Given the description of an element on the screen output the (x, y) to click on. 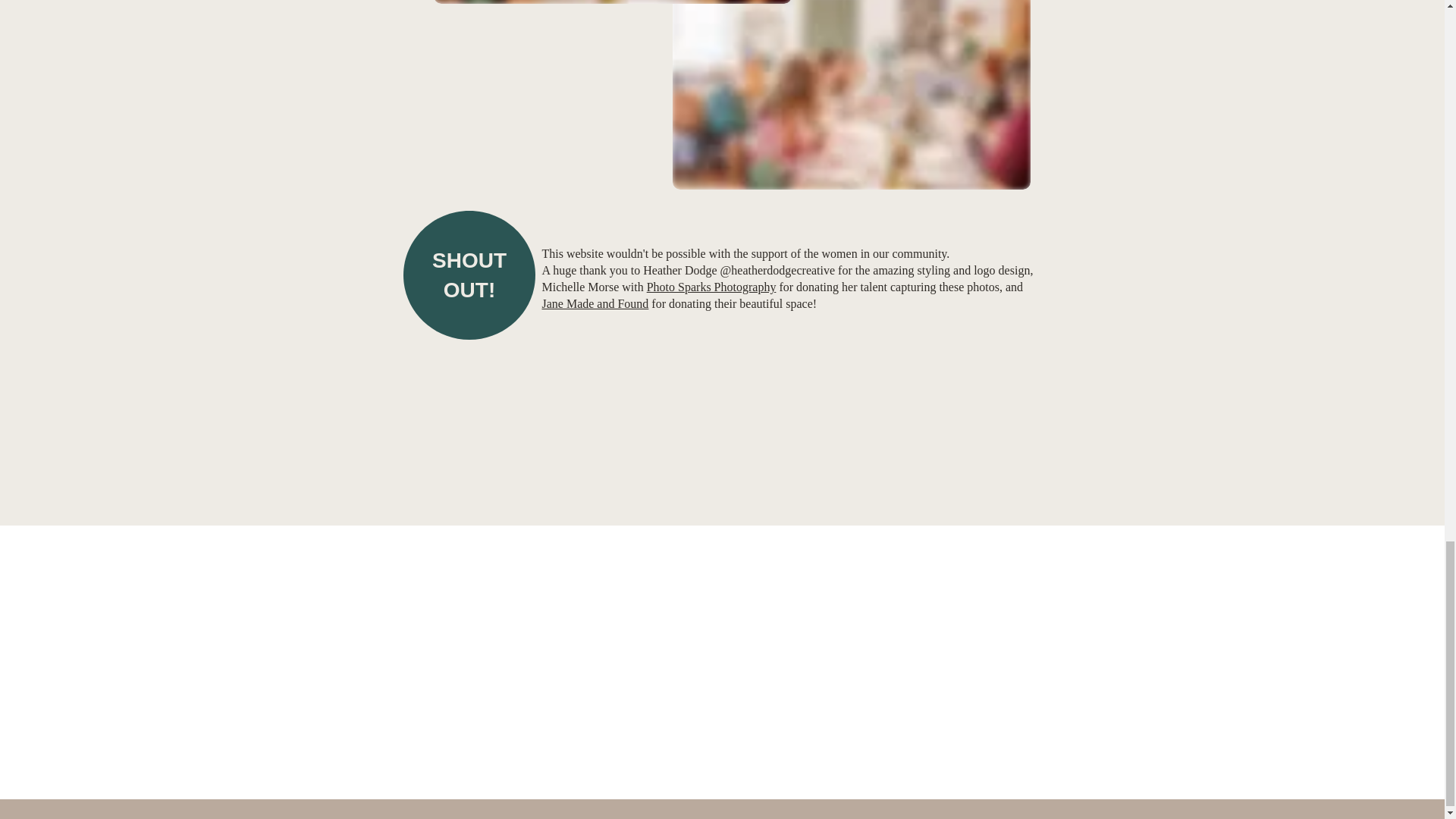
Jane Made and Found (594, 303)
Photo Sparks Photography (711, 286)
